Given the description of an element on the screen output the (x, y) to click on. 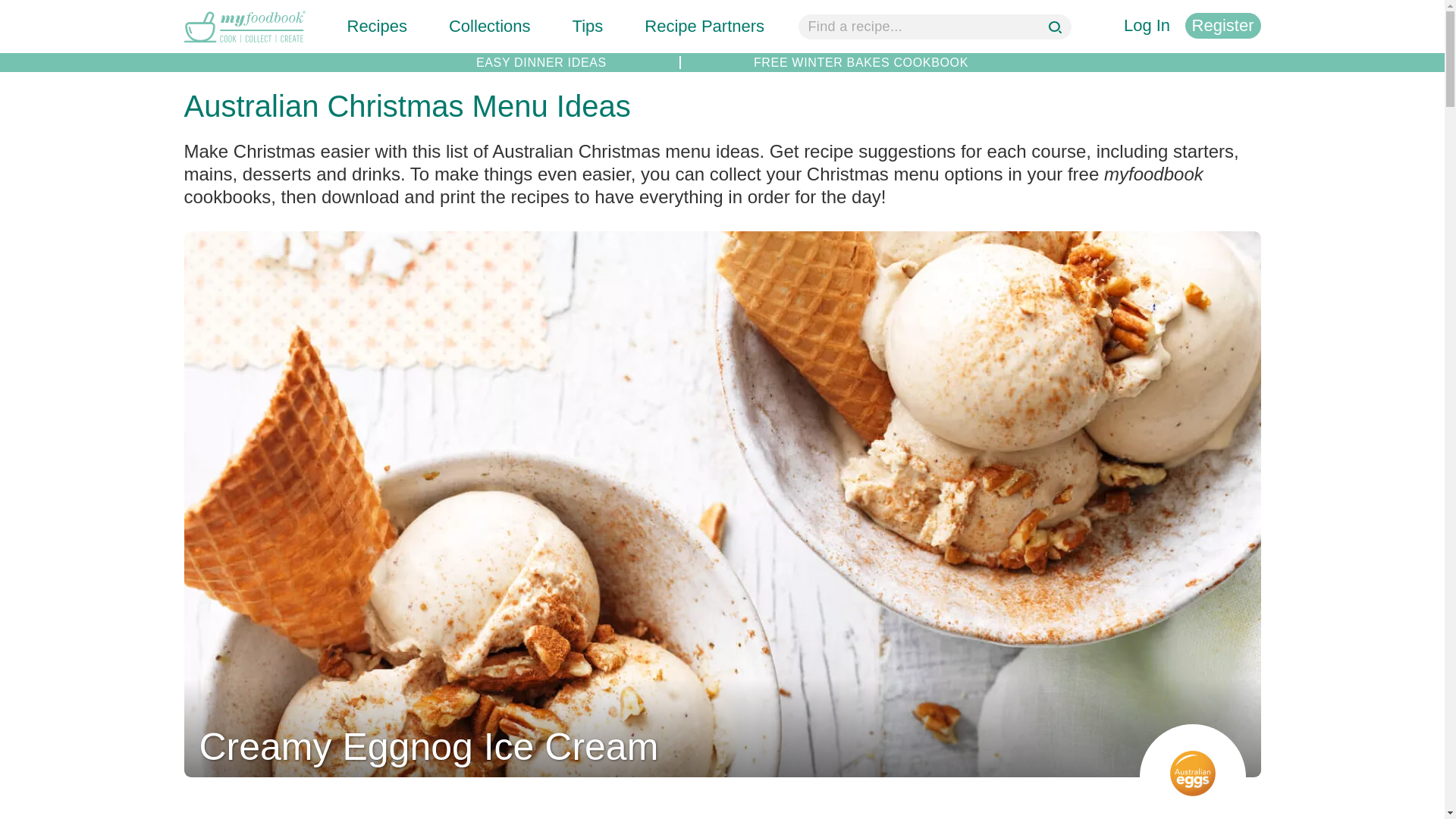
go (1056, 28)
go (1056, 28)
Register (1222, 25)
myfoodbook home (243, 43)
Winter Bake Recipes Cookbook (861, 62)
Creamy Eggnog Ice Cream (428, 746)
Creamy Eggnog Ice Cream (721, 767)
FREE WINTER BAKES COOKBOOK (861, 62)
Tips (588, 26)
Creamy Eggnog Ice Cream (428, 746)
